Given the description of an element on the screen output the (x, y) to click on. 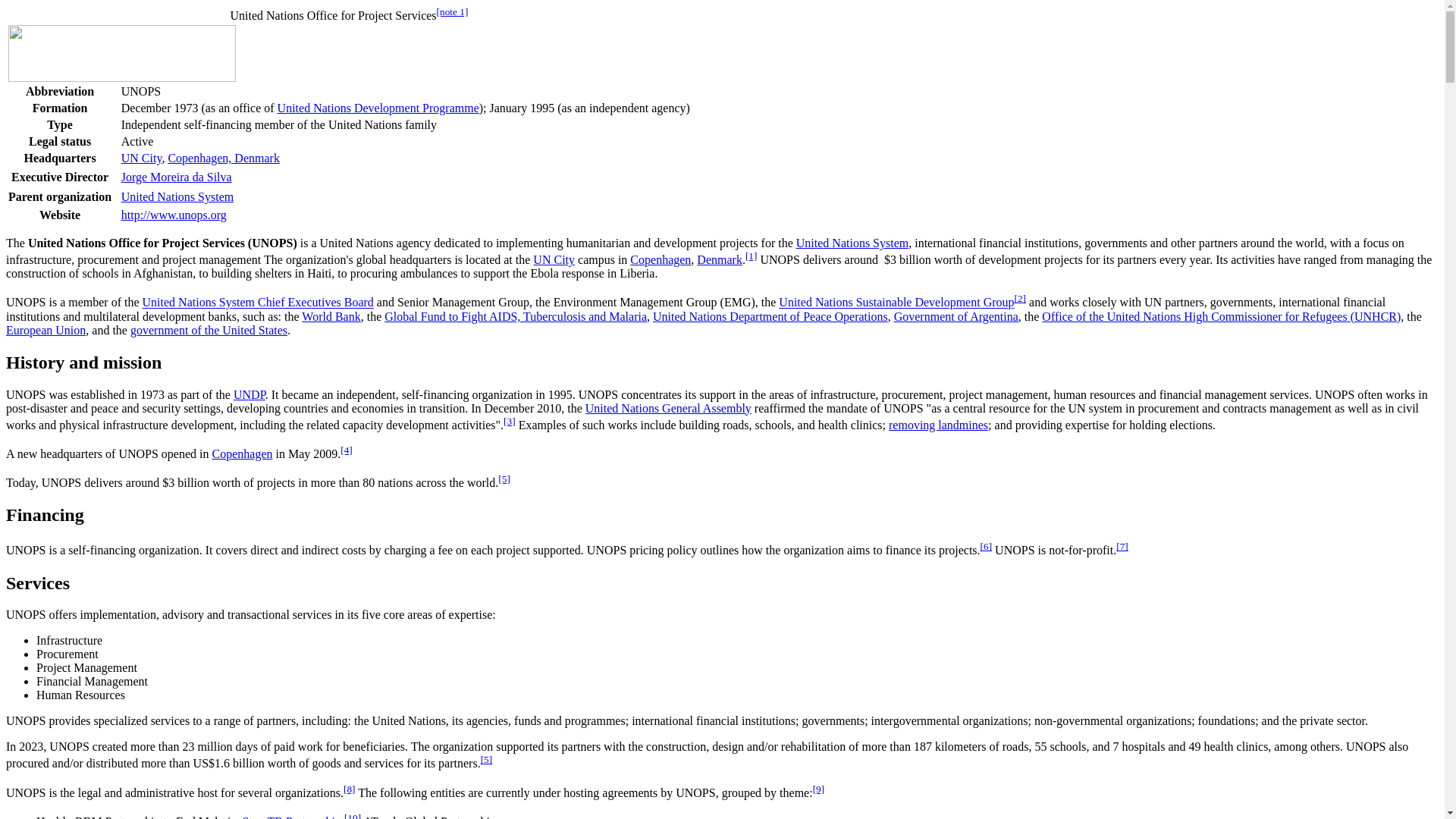
World Bank (330, 316)
removing landmines (938, 424)
UN City (140, 157)
Copenhagen, Denmark (223, 157)
government of the United States (208, 329)
United Nations System (852, 242)
Government of Argentina (955, 316)
Denmark (719, 259)
Copenhagen (660, 259)
Copenhagen (242, 453)
